Given the description of an element on the screen output the (x, y) to click on. 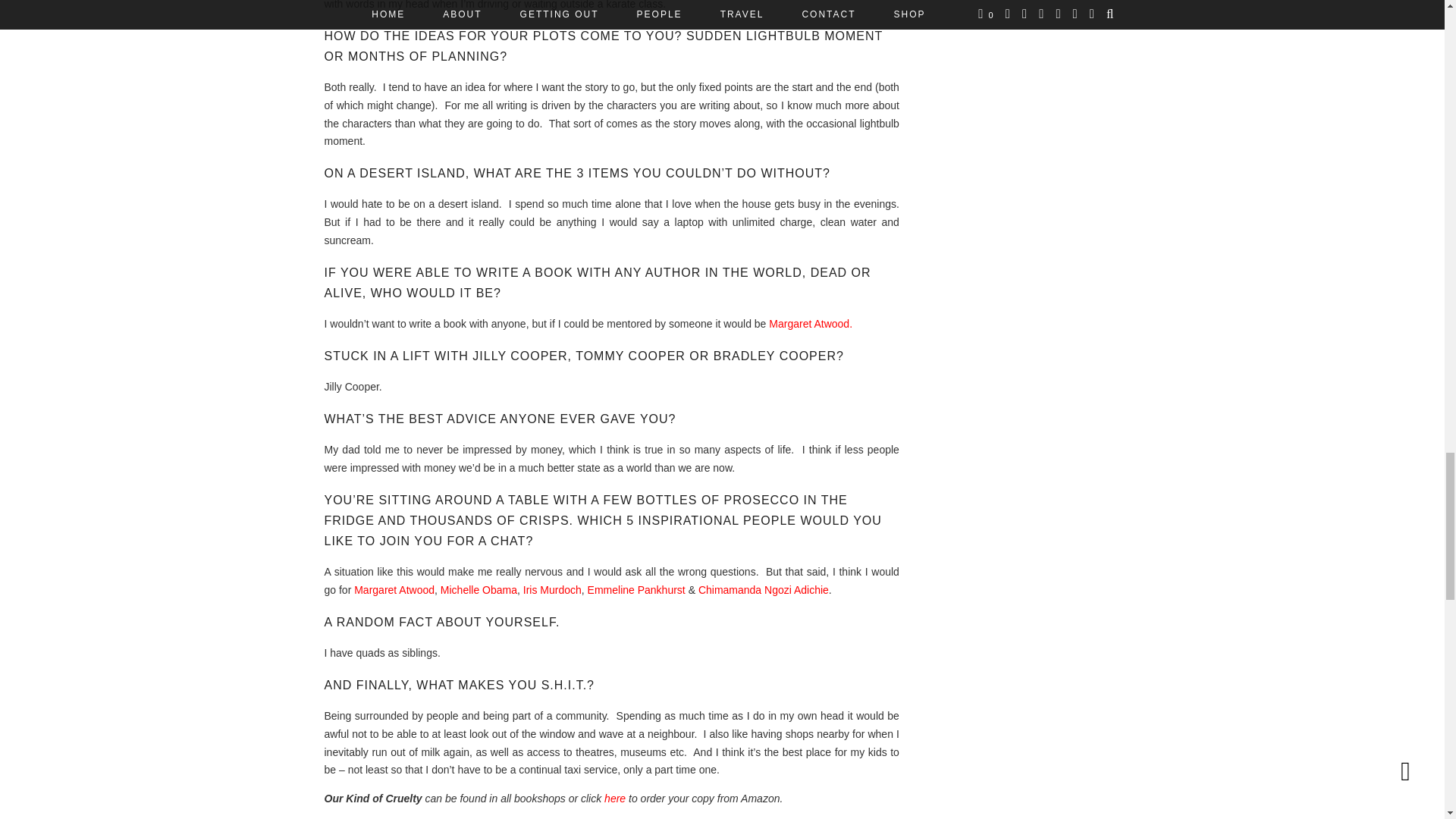
Michelle Obama (478, 589)
Emmeline Pankhurst (636, 589)
here (615, 798)
Margaret Atwood. (809, 323)
Iris Murdoch (551, 589)
Chimamanda Ngozi Adichie (763, 589)
